Given the description of an element on the screen output the (x, y) to click on. 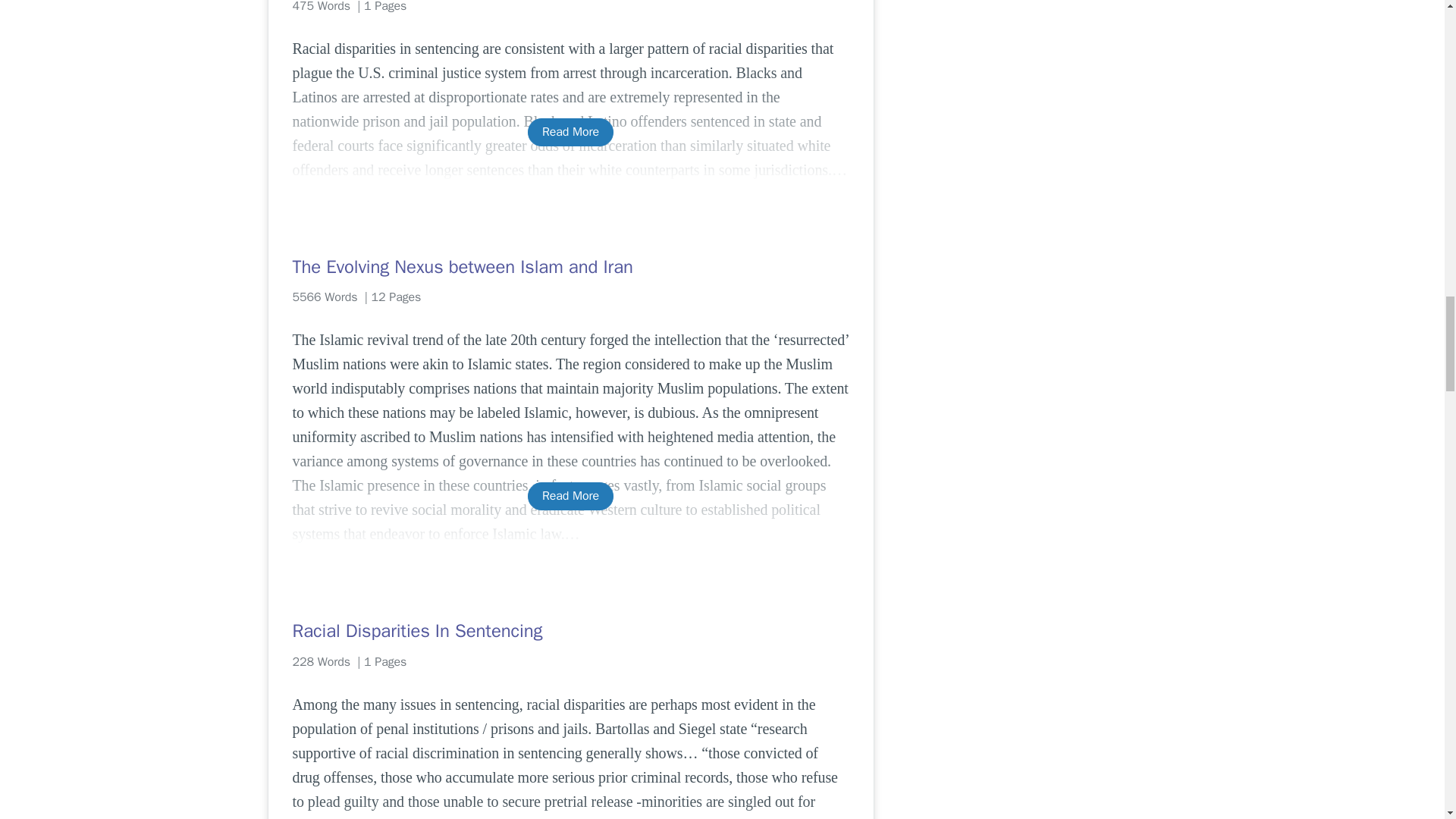
The Evolving Nexus between Islam and Iran (570, 266)
Racial Disparities In Sentencing (570, 630)
Read More (569, 131)
Read More (569, 496)
